Given the description of an element on the screen output the (x, y) to click on. 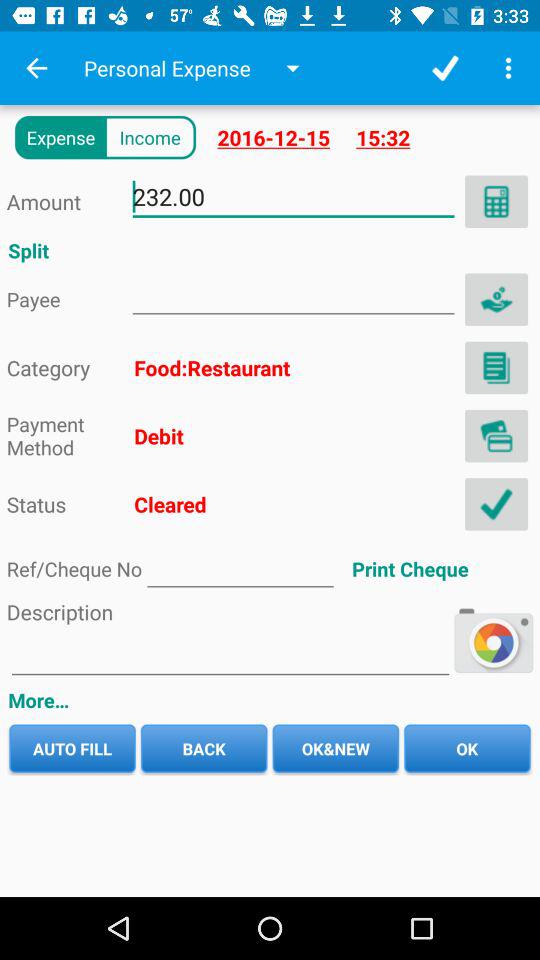
address page (496, 436)
